Given the description of an element on the screen output the (x, y) to click on. 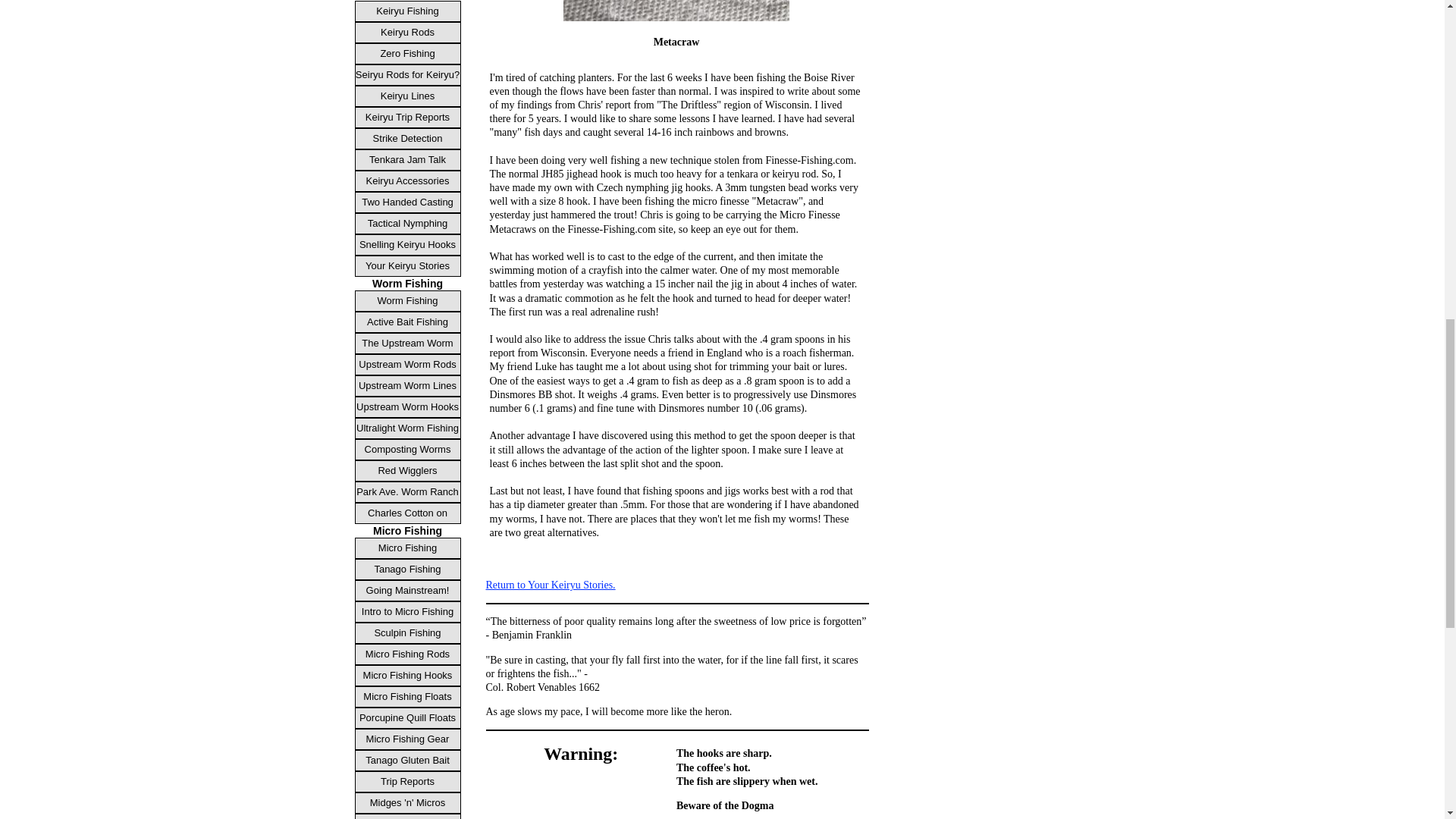
Ultralight Worm Fishing (408, 427)
Keiryu Lines (408, 96)
Your Keiryu Stories vol.2 (408, 265)
Keiryu Trip Reports (408, 117)
Worm Fishing (408, 301)
Upstream Worm Lines (408, 385)
Metacraw (676, 10)
Snelling Keiryu Hooks (408, 244)
Upstream Worm Hooks (408, 406)
Seiryu Rods for Keiryu? (408, 74)
Keiryu Accessories (408, 180)
Composting Worms (408, 449)
Two Handed Casting (408, 201)
Zero Fishing (408, 53)
Keiryu Rods (408, 32)
